Given the description of an element on the screen output the (x, y) to click on. 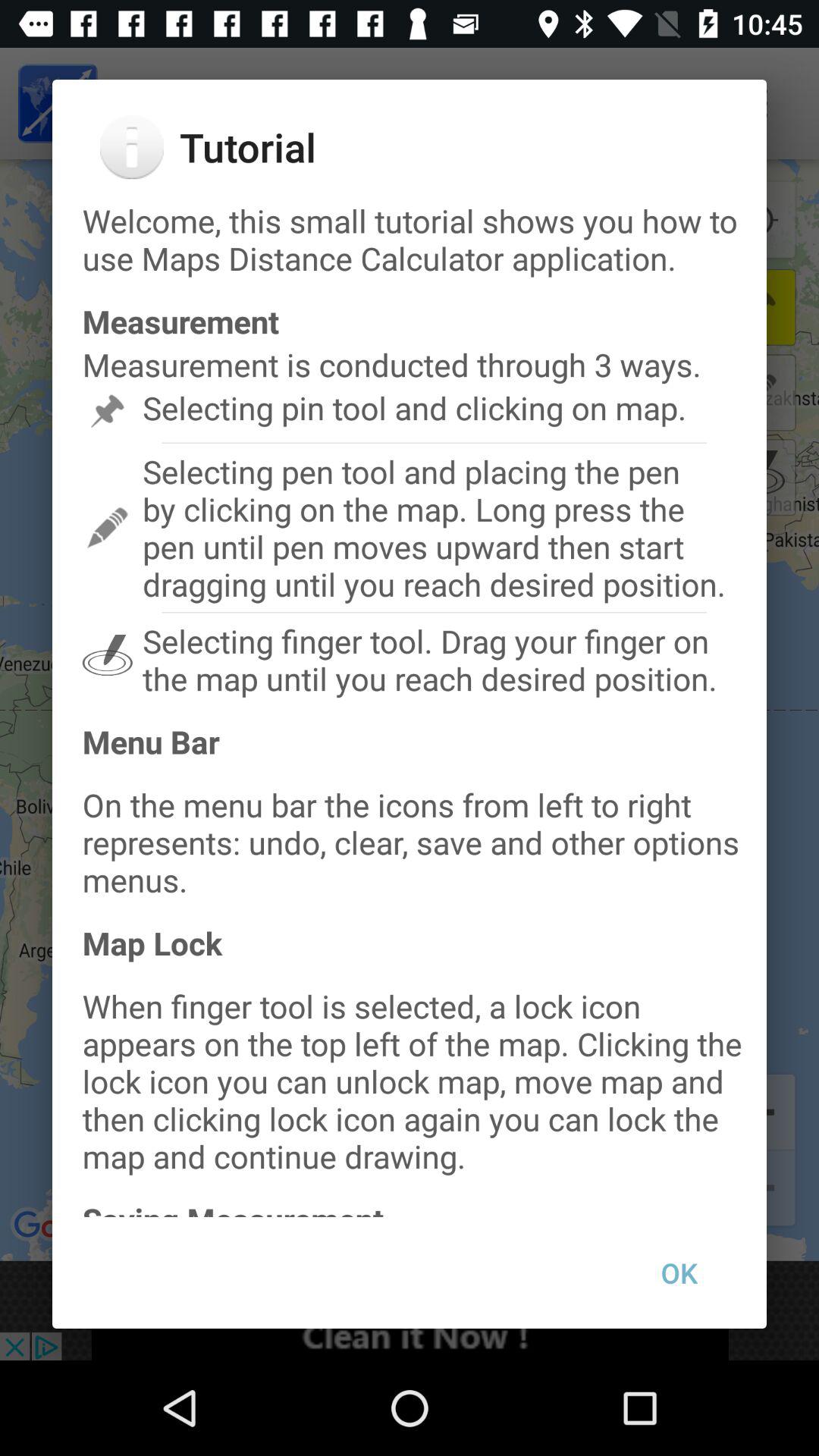
choose the ok item (678, 1272)
